Given the description of an element on the screen output the (x, y) to click on. 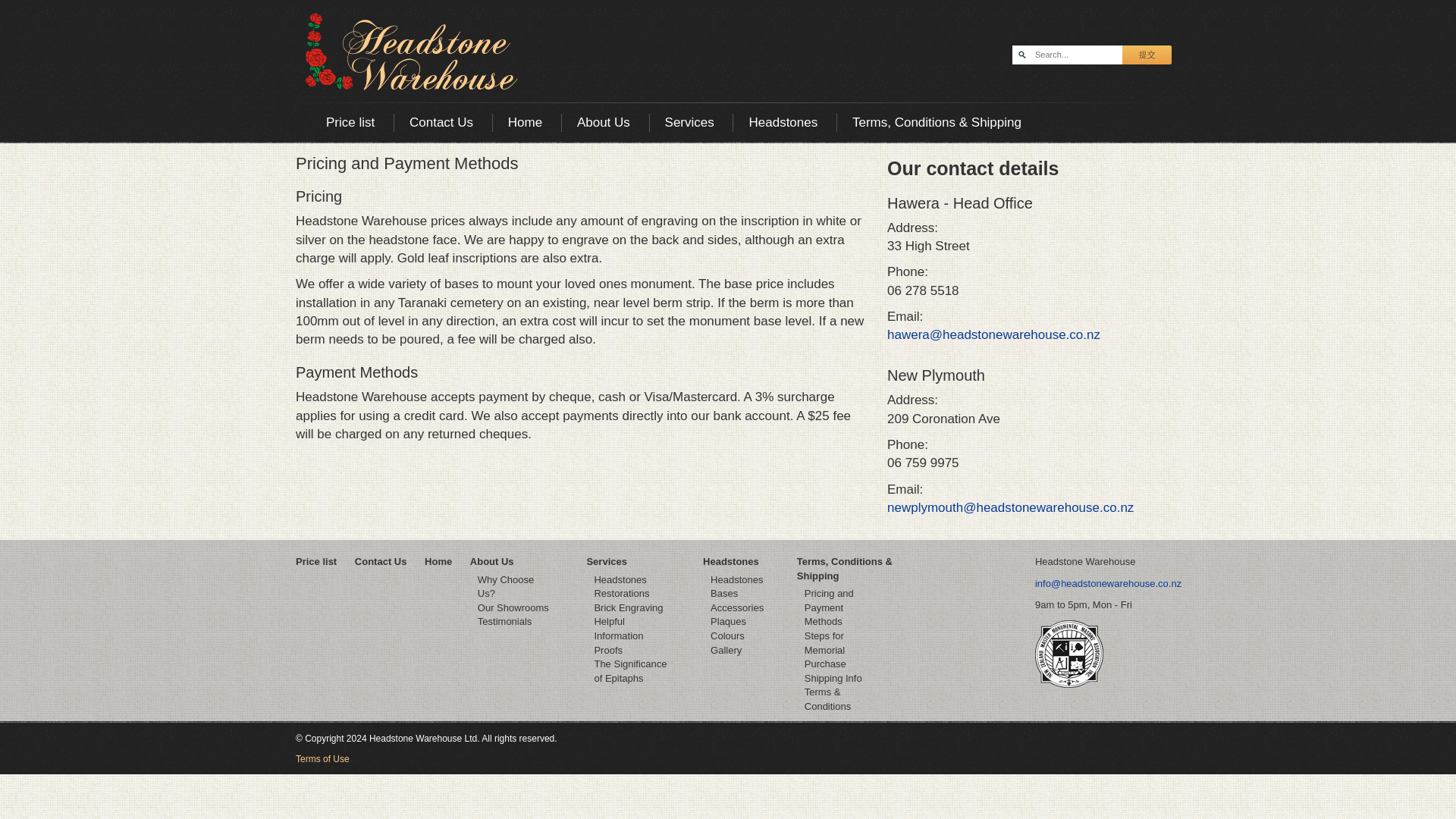
Home (524, 122)
Price list (350, 122)
About Us (603, 122)
Contact Us (441, 122)
Services (689, 122)
